Given the description of an element on the screen output the (x, y) to click on. 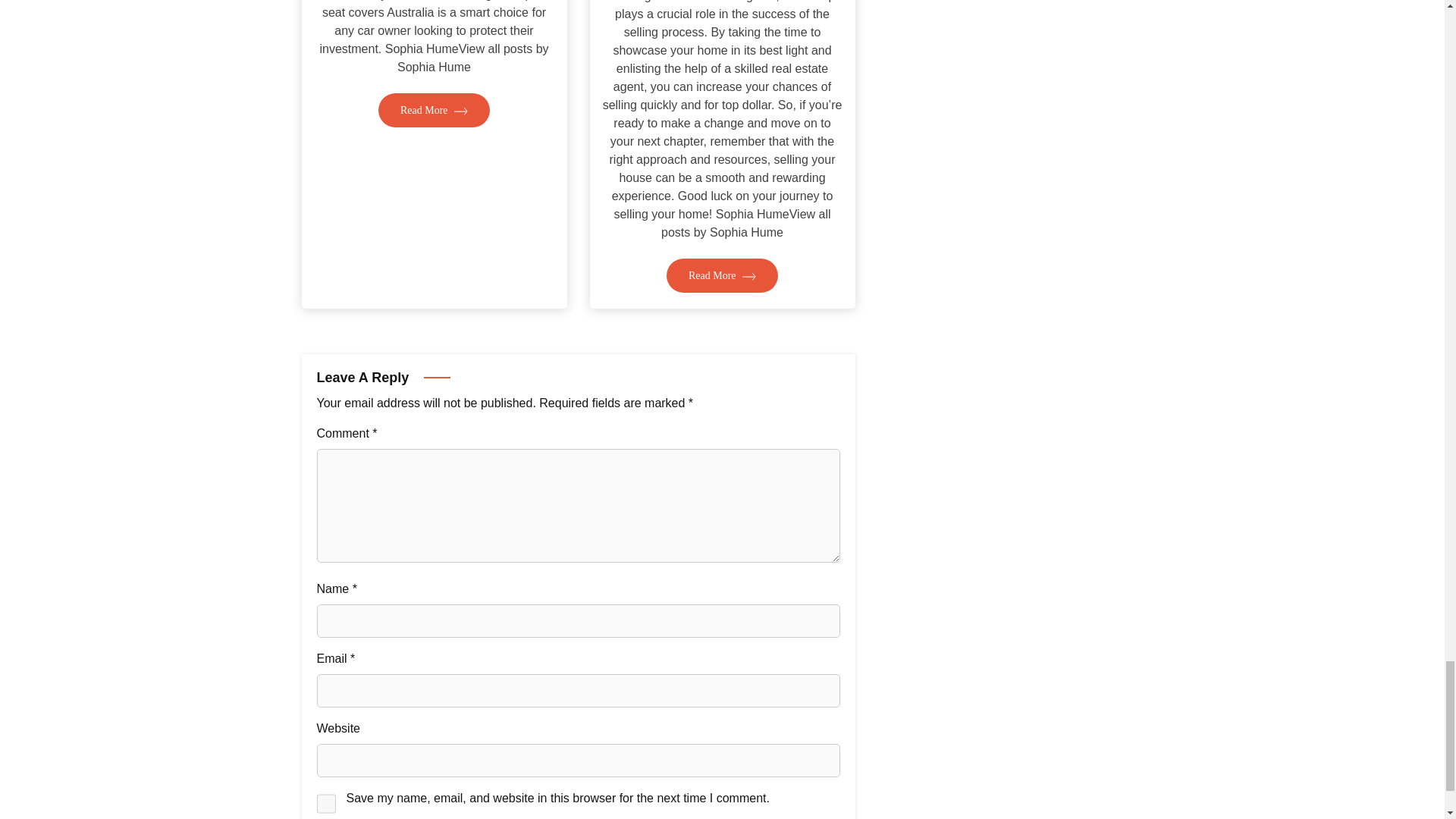
Read More (433, 110)
Read More (721, 275)
yes (326, 803)
